Given the description of an element on the screen output the (x, y) to click on. 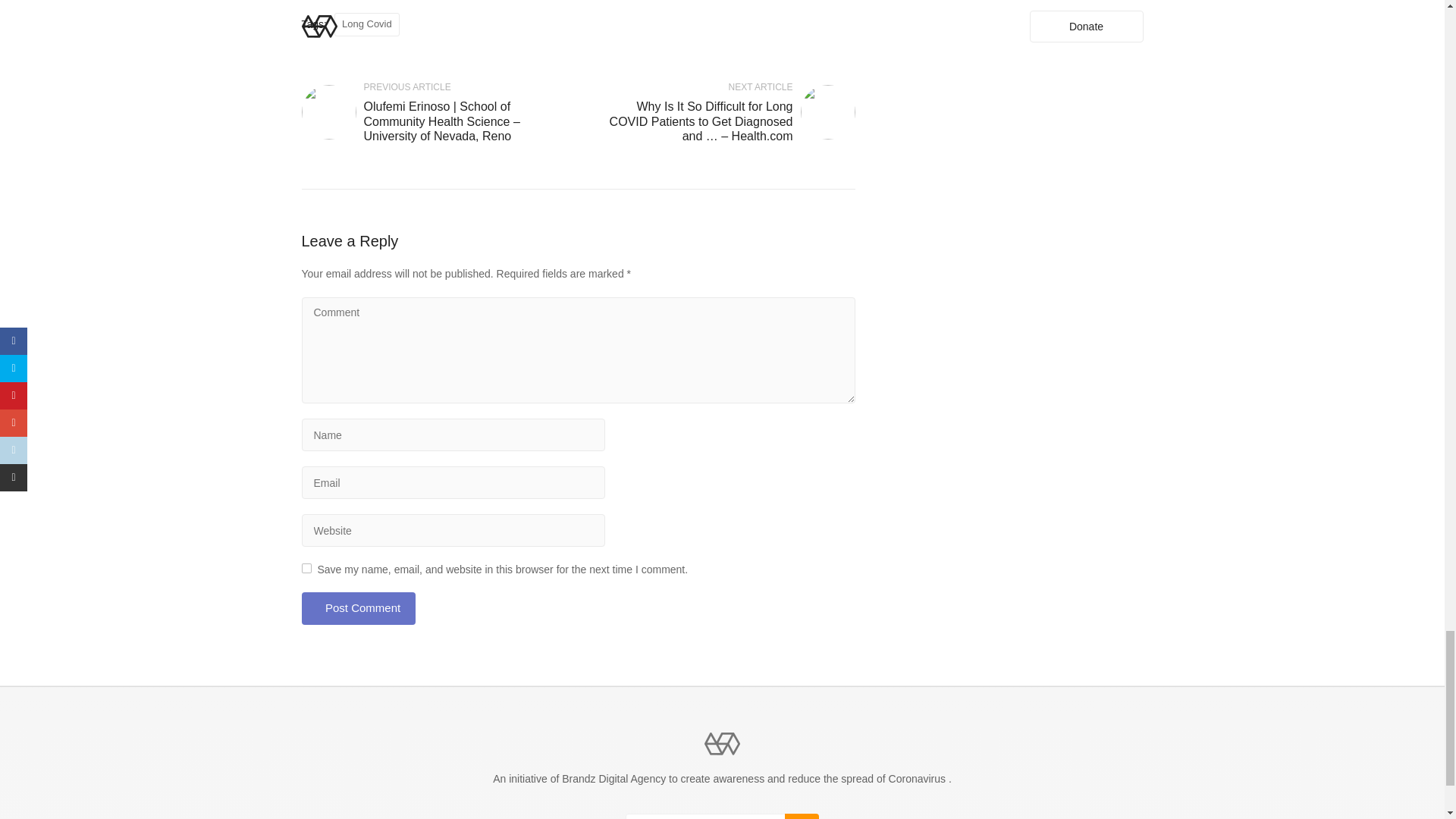
Long Covid (366, 24)
Post Comment (357, 608)
